Given the description of an element on the screen output the (x, y) to click on. 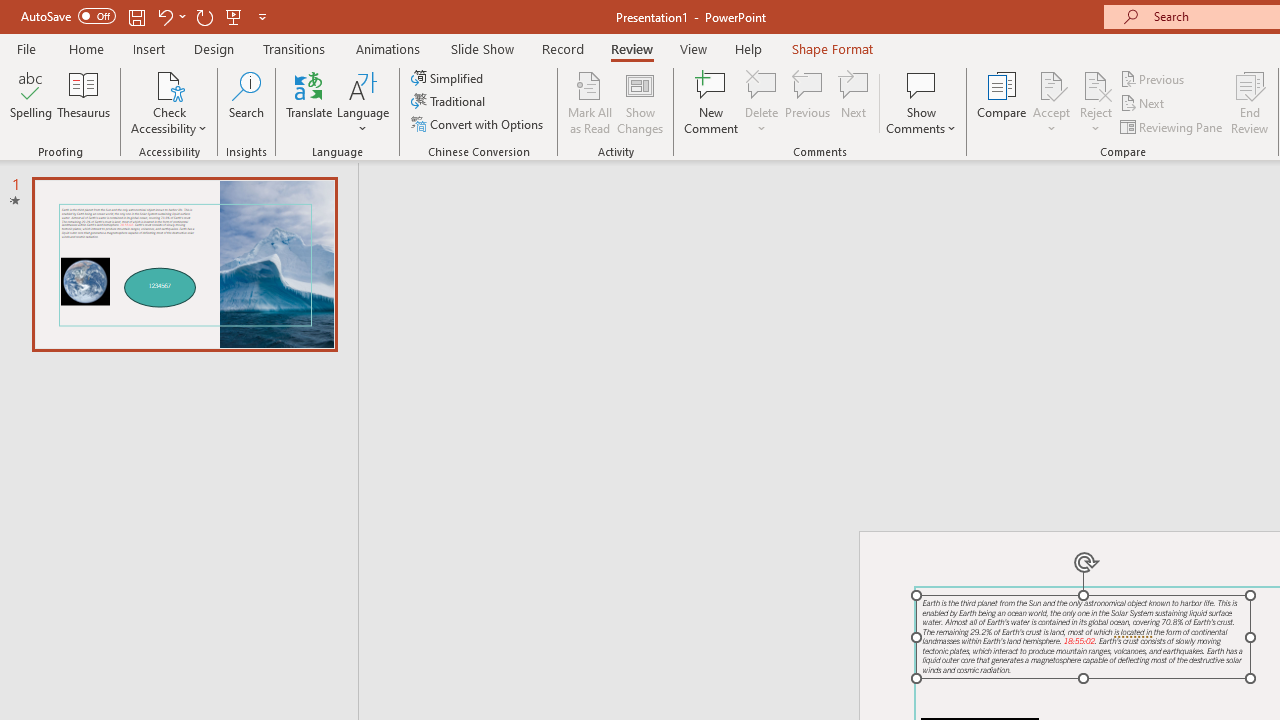
Show Comments (921, 102)
New Comment (711, 102)
Show Changes (639, 102)
Next (1144, 103)
Thesaurus... (83, 102)
Reviewing Pane (1172, 126)
Compare (1002, 102)
